Given the description of an element on the screen output the (x, y) to click on. 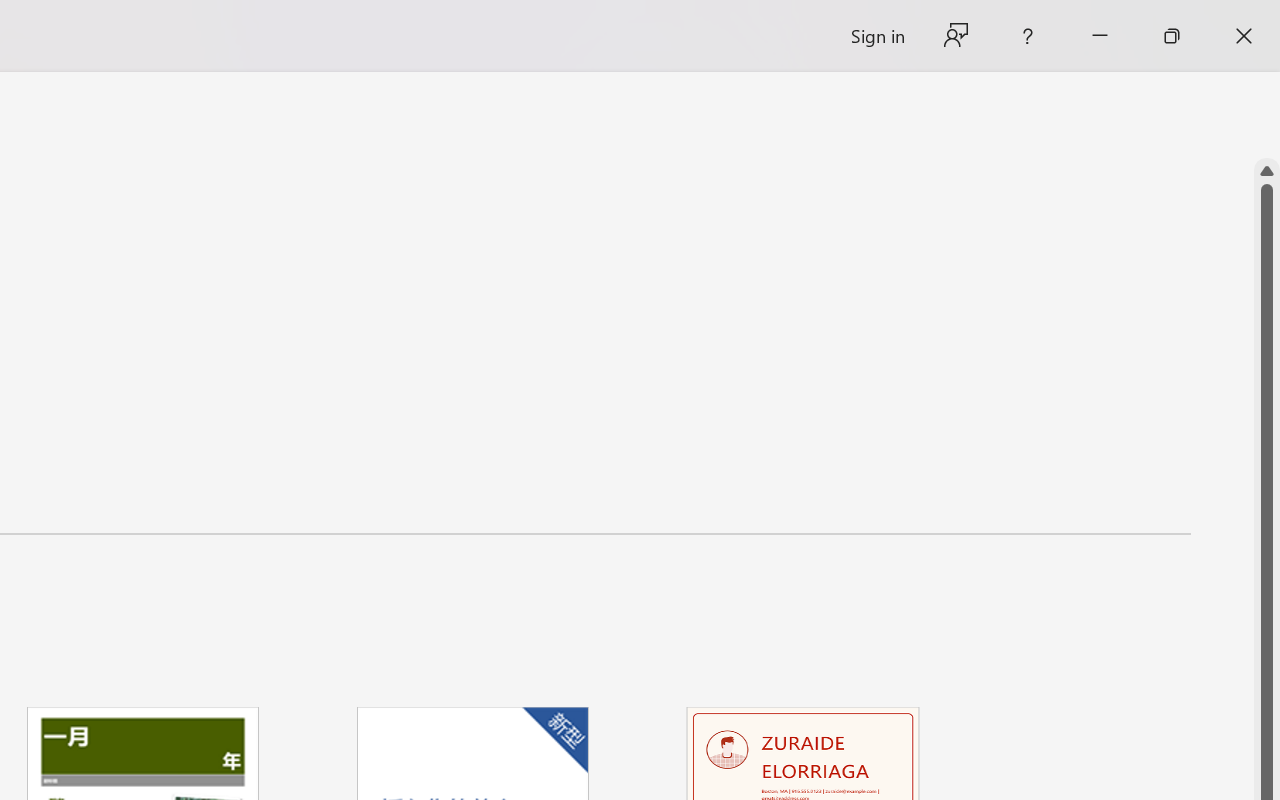
New Tab (797, 22)
Chrome Web Store - Color themes by Chrome (173, 22)
Google (68, 22)
